Given the description of an element on the screen output the (x, y) to click on. 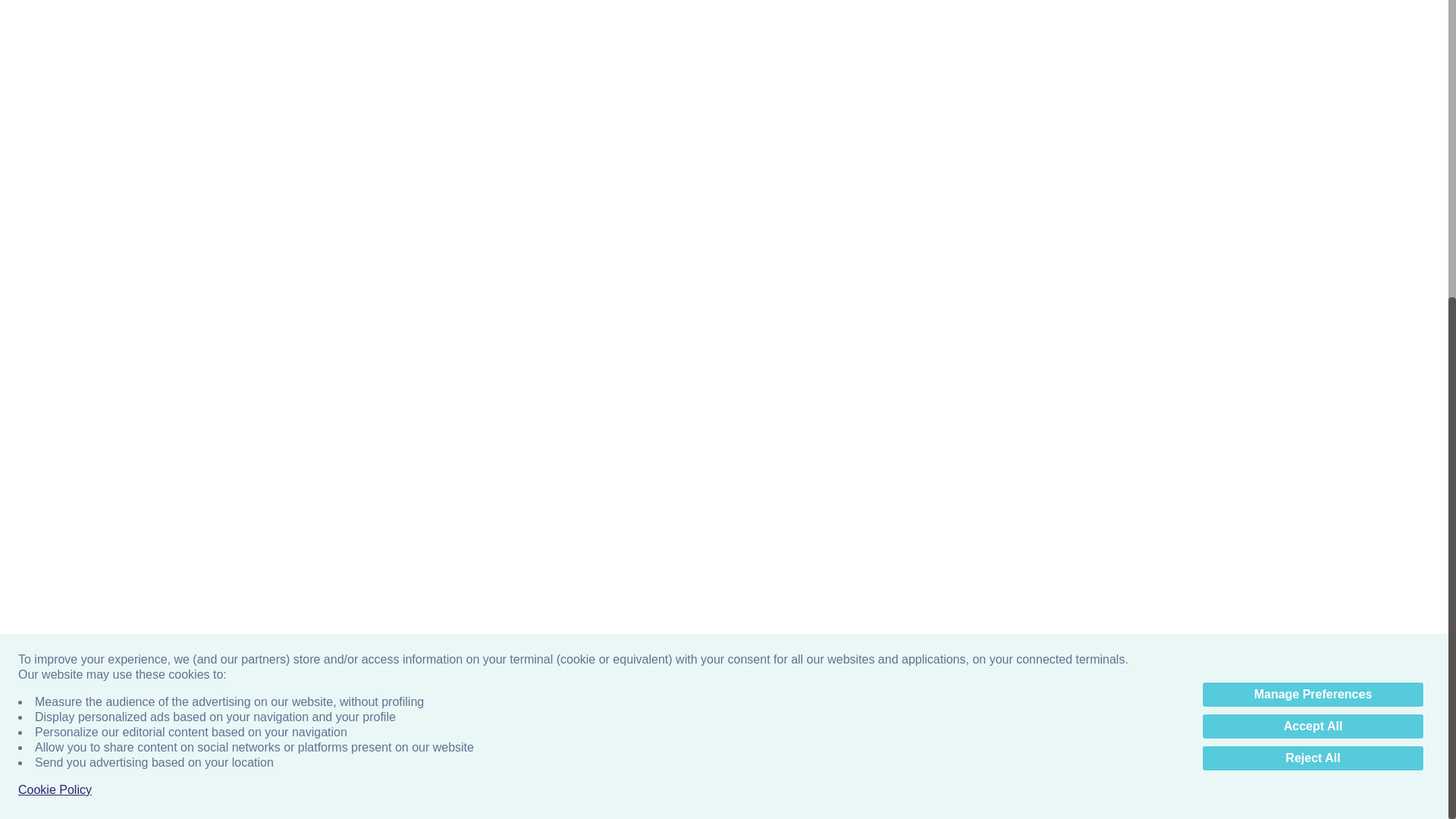
Cookie Policy (54, 322)
Reject All (1312, 290)
Manage Preferences (1312, 227)
Accept All (1312, 258)
